Given the description of an element on the screen output the (x, y) to click on. 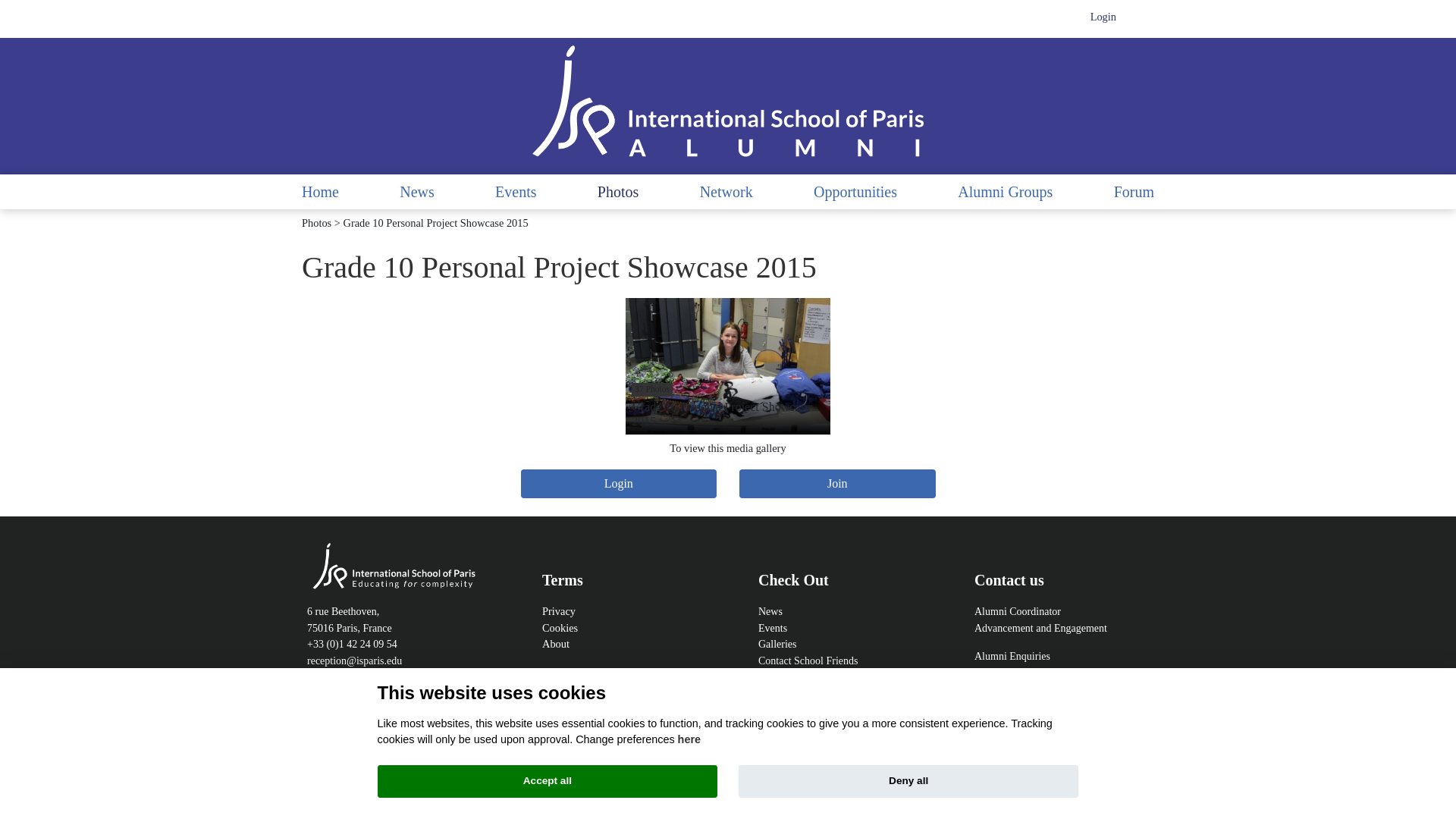
Contact School Friends (807, 660)
Alumni Groups (1005, 191)
Login (1103, 16)
Alumni Enquiries (1011, 655)
Alumni Coordinator (727, 366)
About (1017, 611)
Photos (555, 644)
Grade 10 Personal Project Showcase 2015 (316, 223)
Network (726, 365)
